Given the description of an element on the screen output the (x, y) to click on. 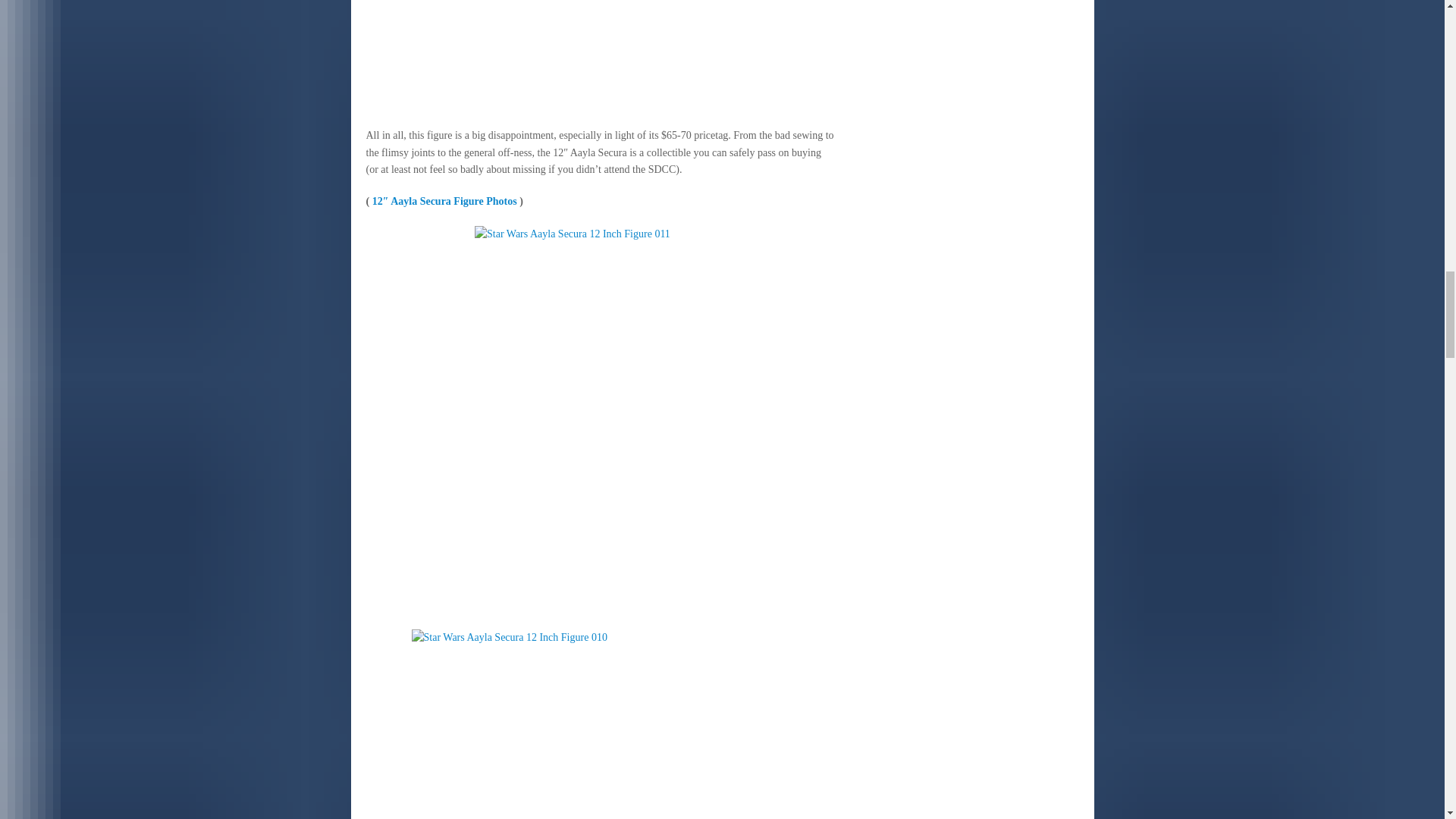
Star Wars Aayla Secura 12 Inch Figure 010 (600, 724)
Star Wars Aayla Secura 12 Inch Figure 006 (600, 56)
